Given the description of an element on the screen output the (x, y) to click on. 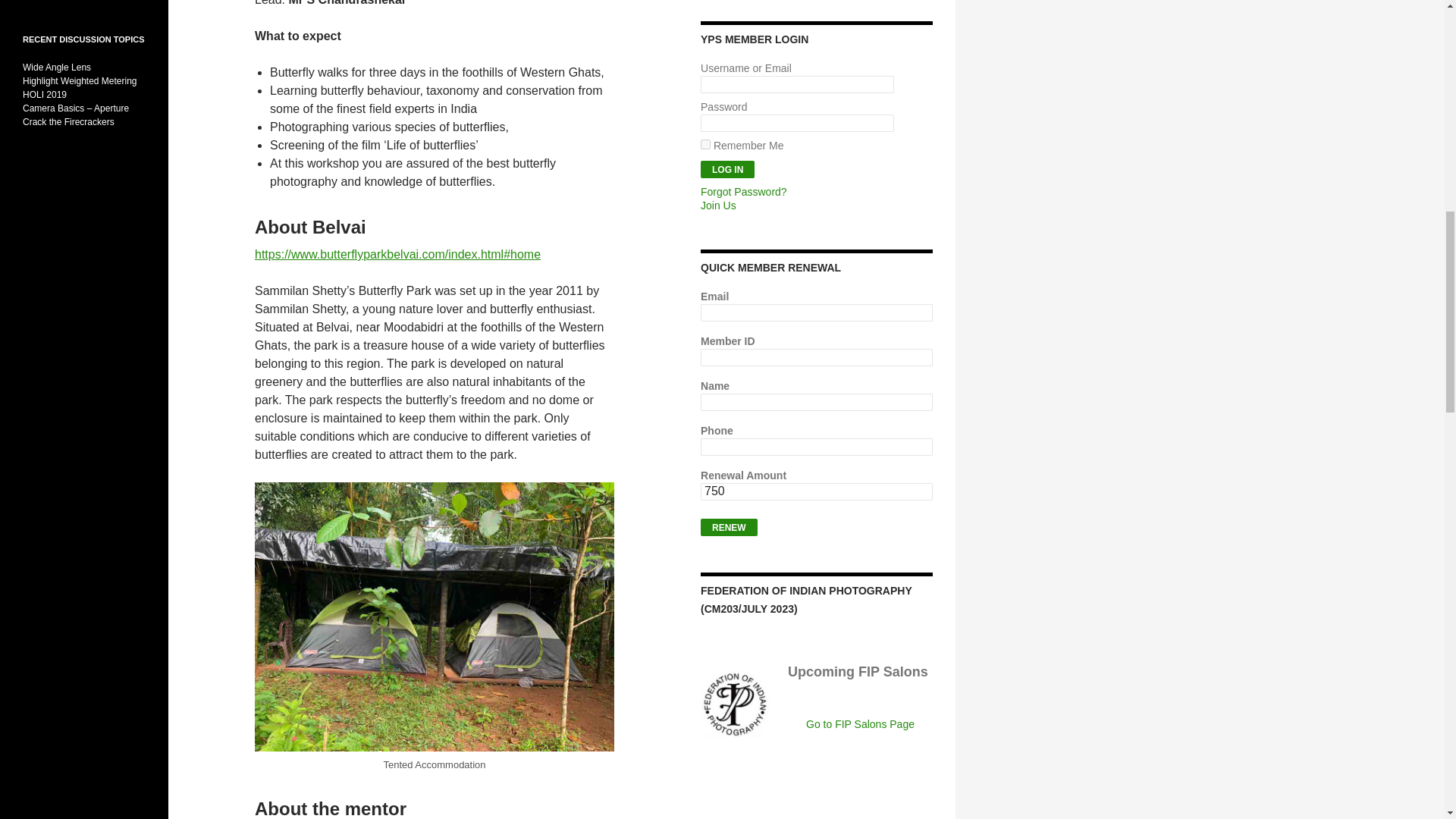
Renew (728, 527)
Log In (727, 169)
750 (816, 491)
Renew (728, 527)
Forgot Password? (743, 191)
Log In (727, 169)
Join Us (718, 205)
Go to FIP Salons Page (860, 724)
on (705, 144)
